Given the description of an element on the screen output the (x, y) to click on. 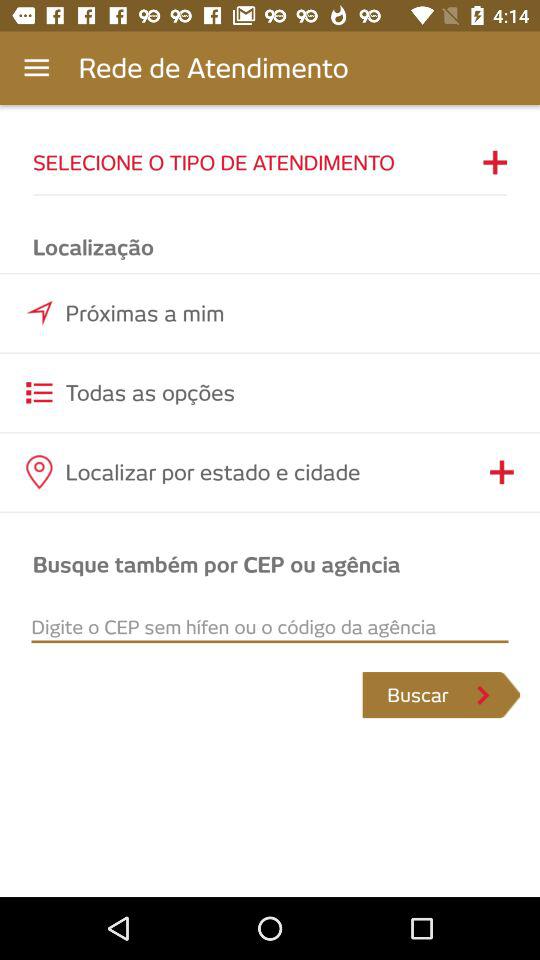
choose item above the selecione o tipo (36, 68)
